Given the description of an element on the screen output the (x, y) to click on. 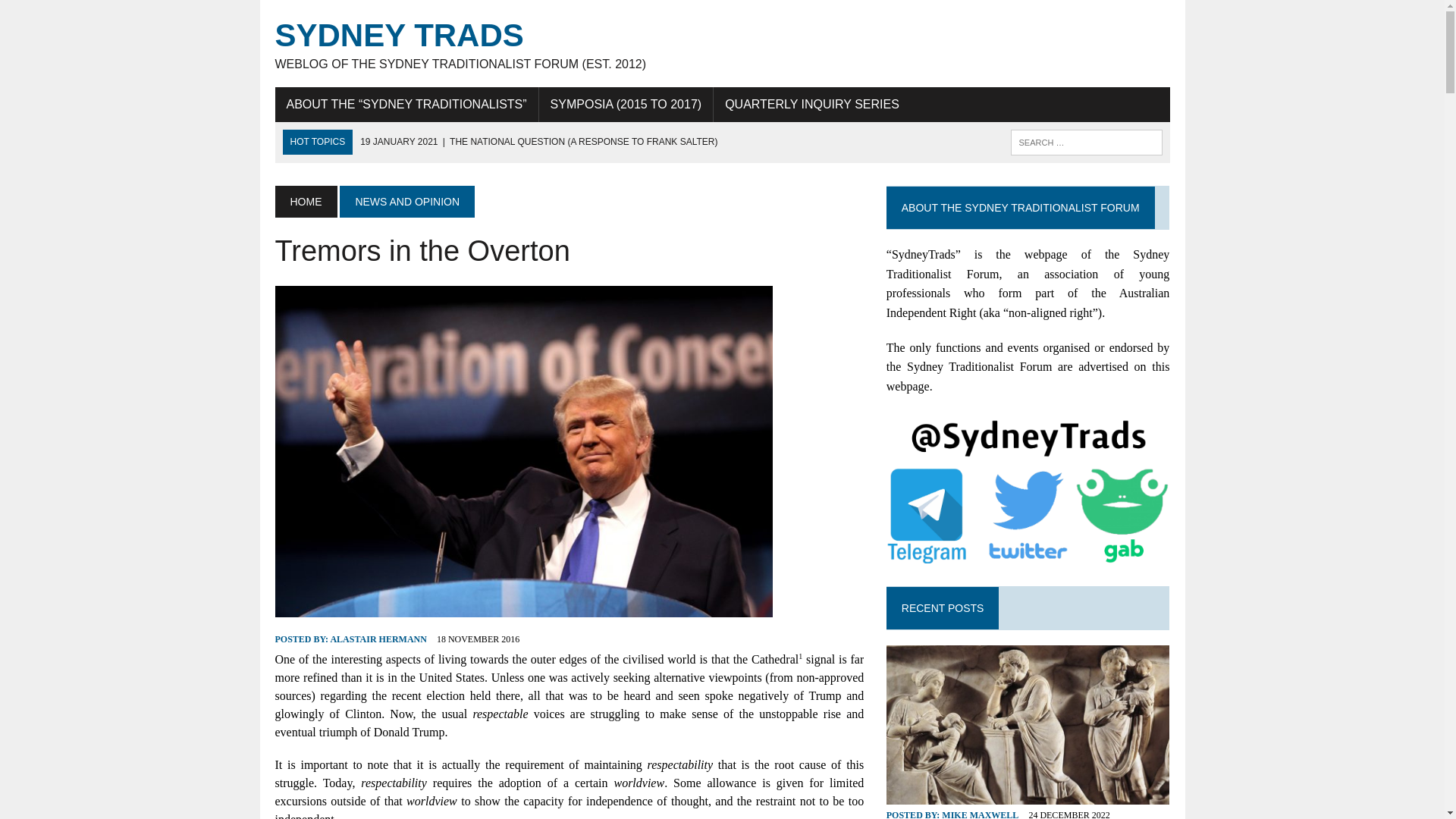
NEWS AND OPINION (406, 201)
HOME (305, 201)
Search (75, 14)
Sydney Trads (722, 43)
QUARTERLY INQUIRY SERIES (812, 104)
ALASTAIR HERMANN (378, 638)
